Given the description of an element on the screen output the (x, y) to click on. 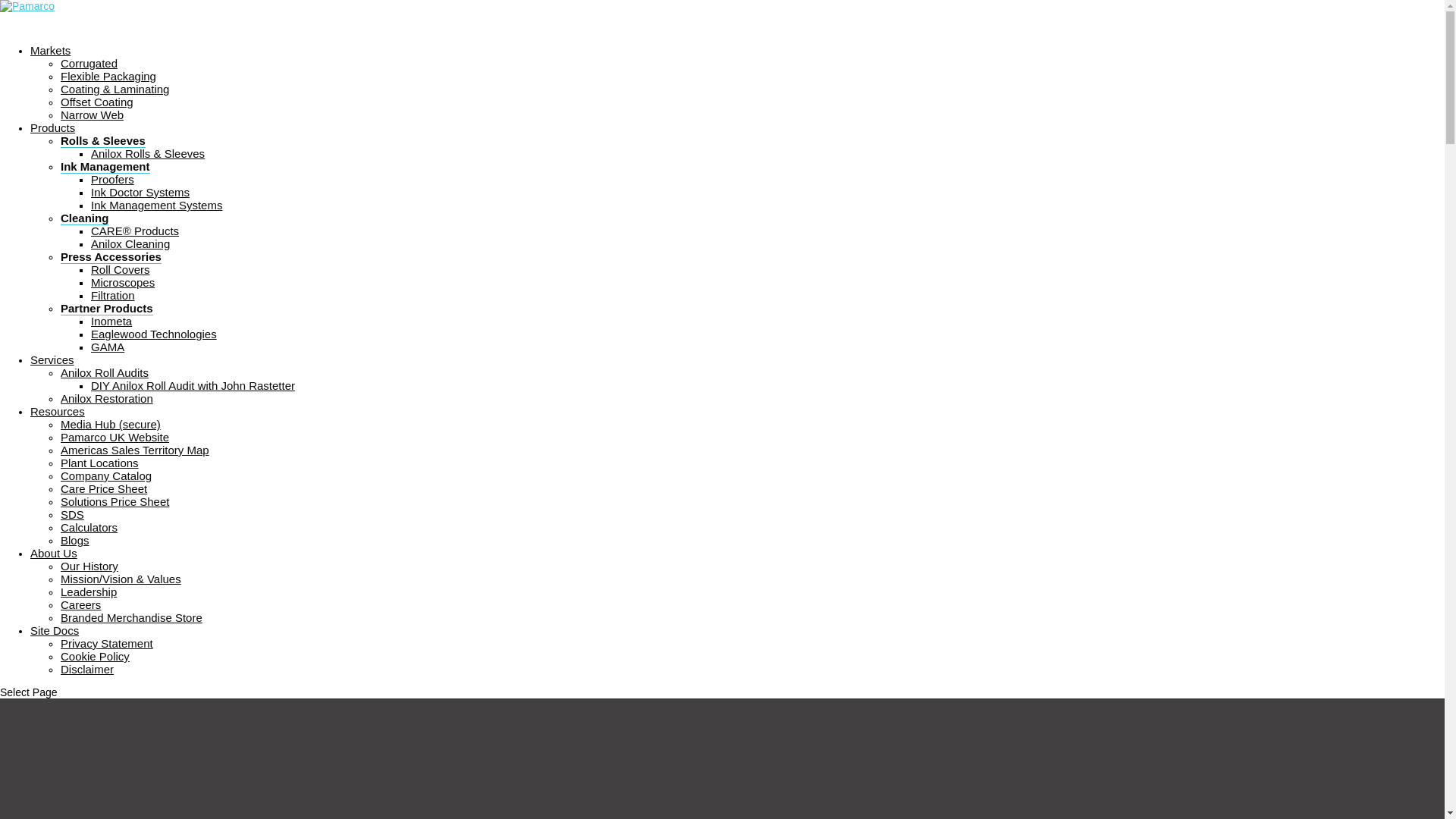
Americas Sales Territory Map (135, 449)
Pamarco UK Website (114, 436)
Proofers (111, 178)
Ink Management Systems (156, 205)
Ink Doctor Systems (139, 192)
Offset Coating (97, 101)
Anilox Roll Audits (104, 372)
Blogs (74, 540)
Eaglewood Technologies (153, 333)
Microscopes (122, 282)
Press Accessories (111, 256)
Cleaning (84, 218)
Care Price Sheet (104, 488)
Company Catalog (106, 475)
Calculators (89, 526)
